Given the description of an element on the screen output the (x, y) to click on. 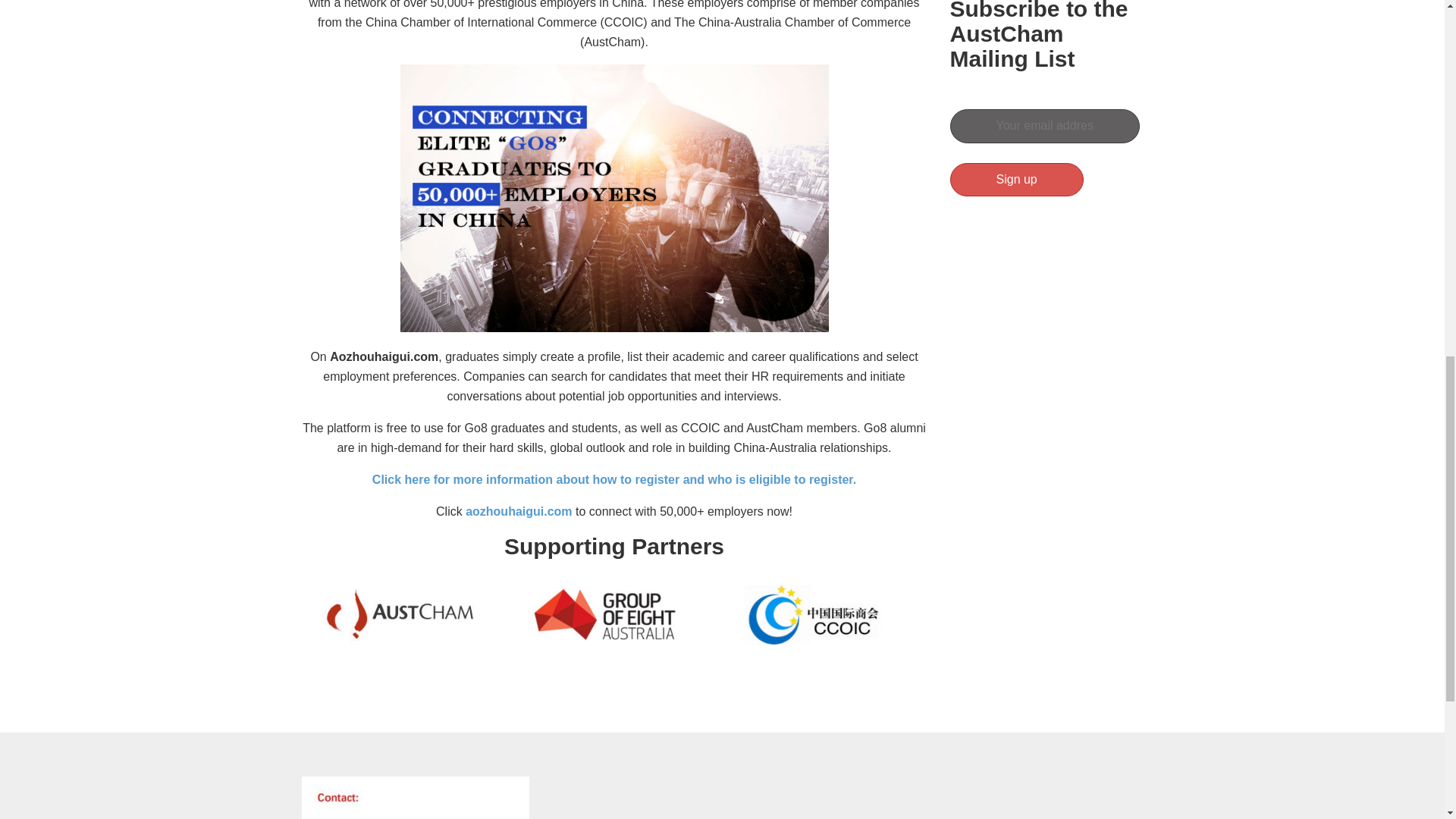
Sign up (1016, 179)
aozhouhaigui.com (520, 511)
Sign up (1016, 179)
